Given the description of an element on the screen output the (x, y) to click on. 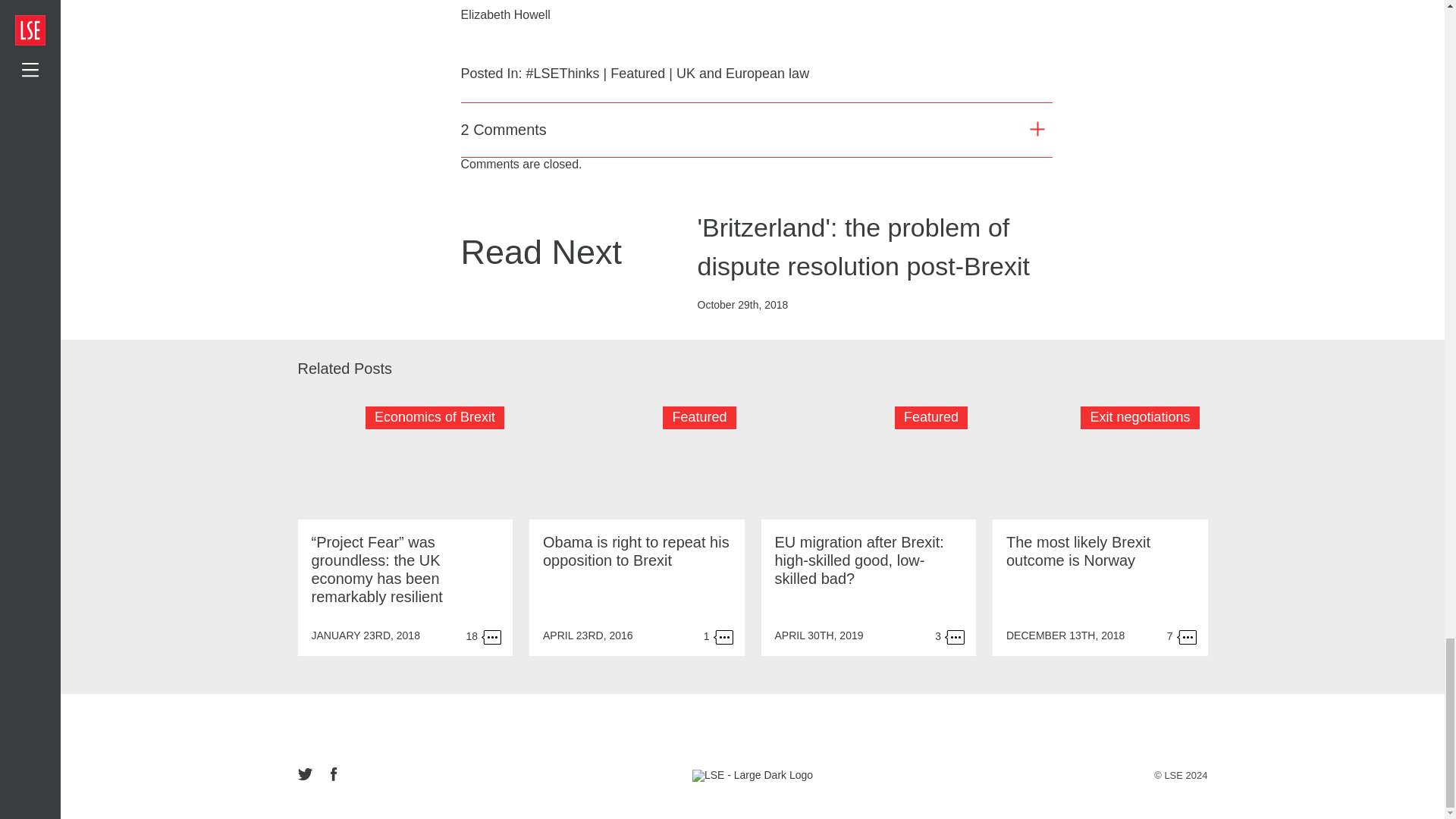
facebook (333, 775)
twitter (308, 775)
